Given the description of an element on the screen output the (x, y) to click on. 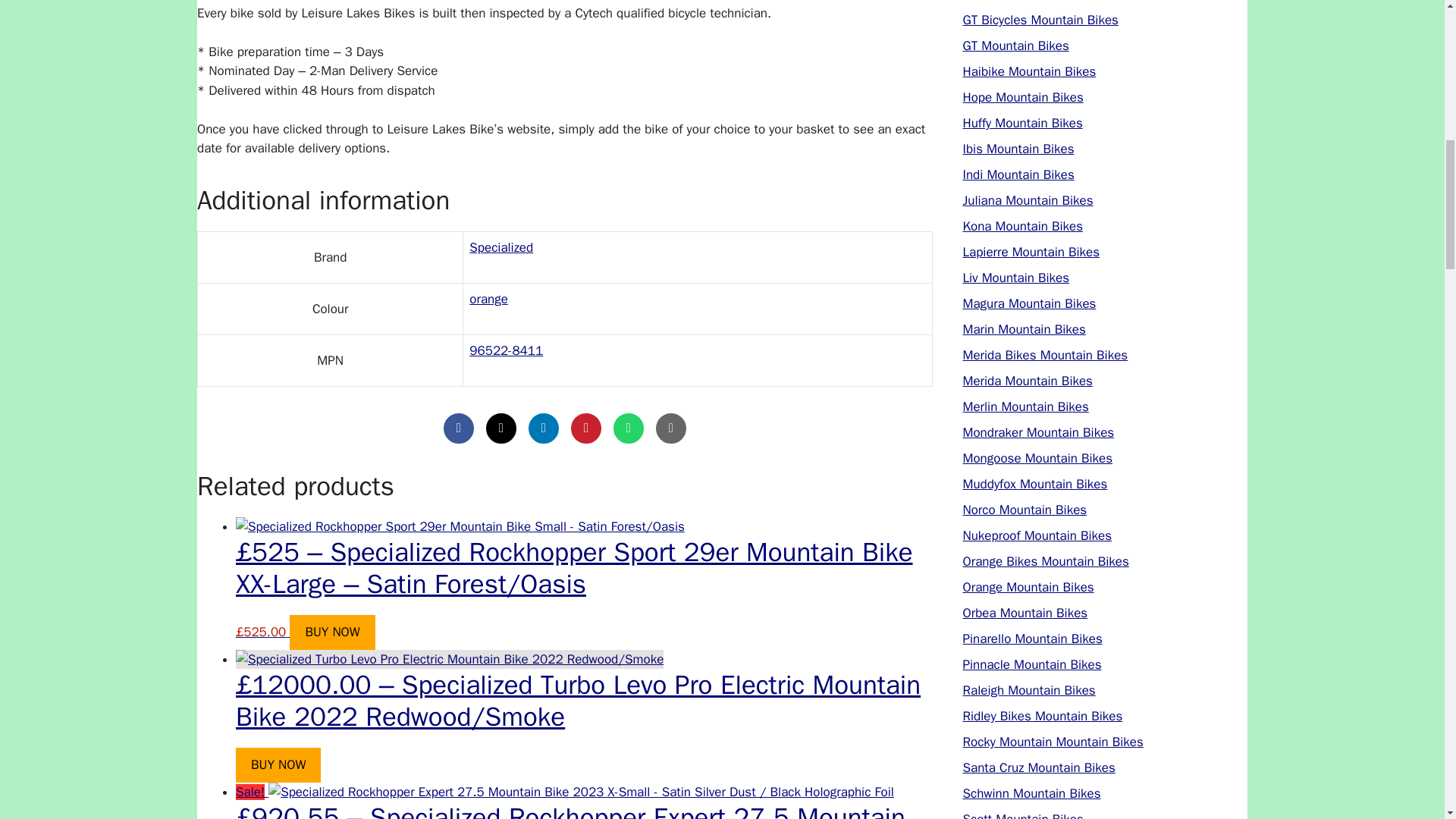
BUY NOW (277, 764)
Specialized (500, 247)
96522-8411 (505, 350)
BUY NOW (331, 632)
orange (488, 299)
Scroll back to top (1406, 720)
